Given the description of an element on the screen output the (x, y) to click on. 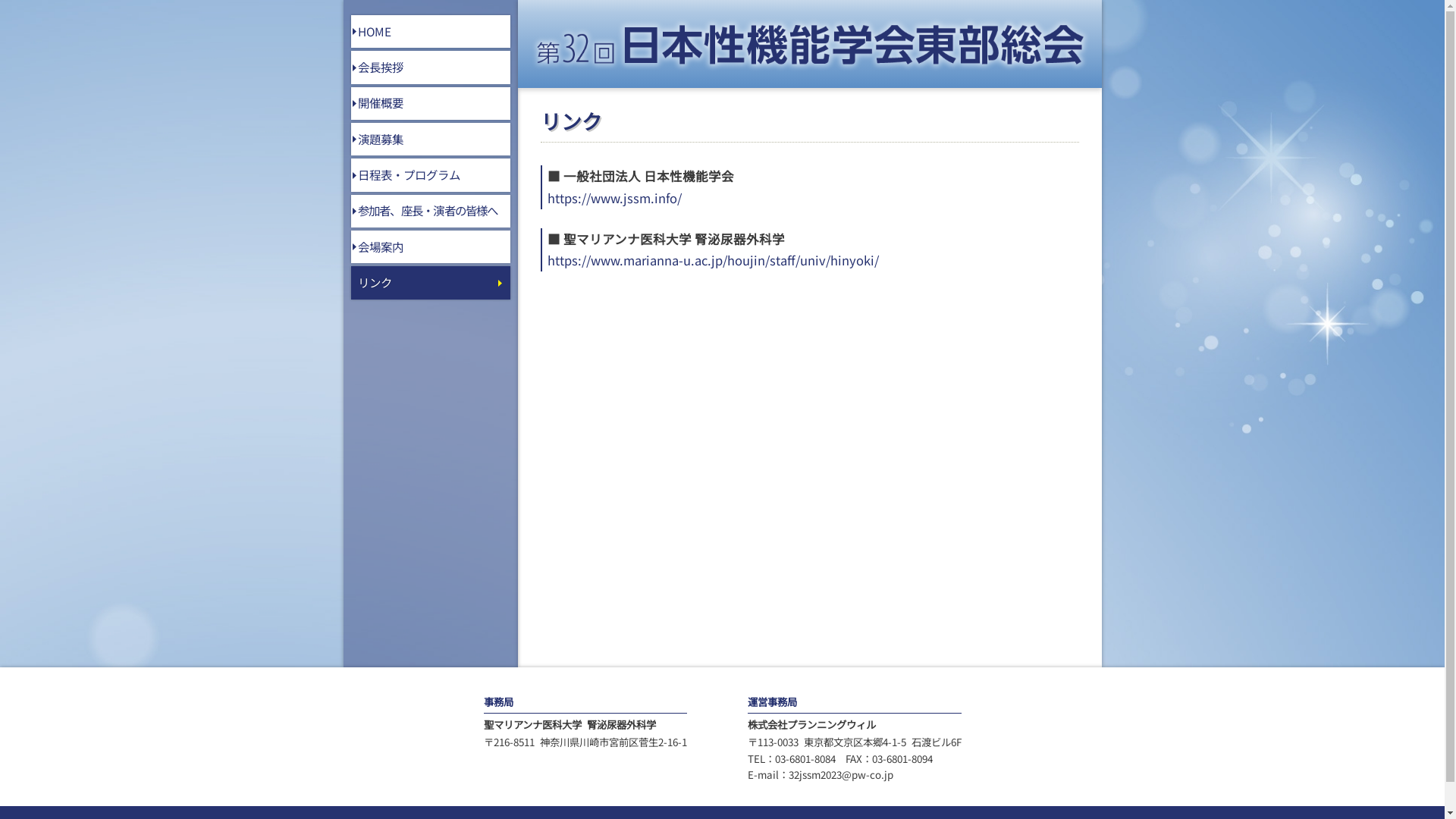
https://www.jssm.info/ Element type: text (813, 198)
https://www.marianna-u.ac.jp/houjin/staff/univ/hinyoki/ Element type: text (813, 260)
HOME Element type: text (429, 31)
